Given the description of an element on the screen output the (x, y) to click on. 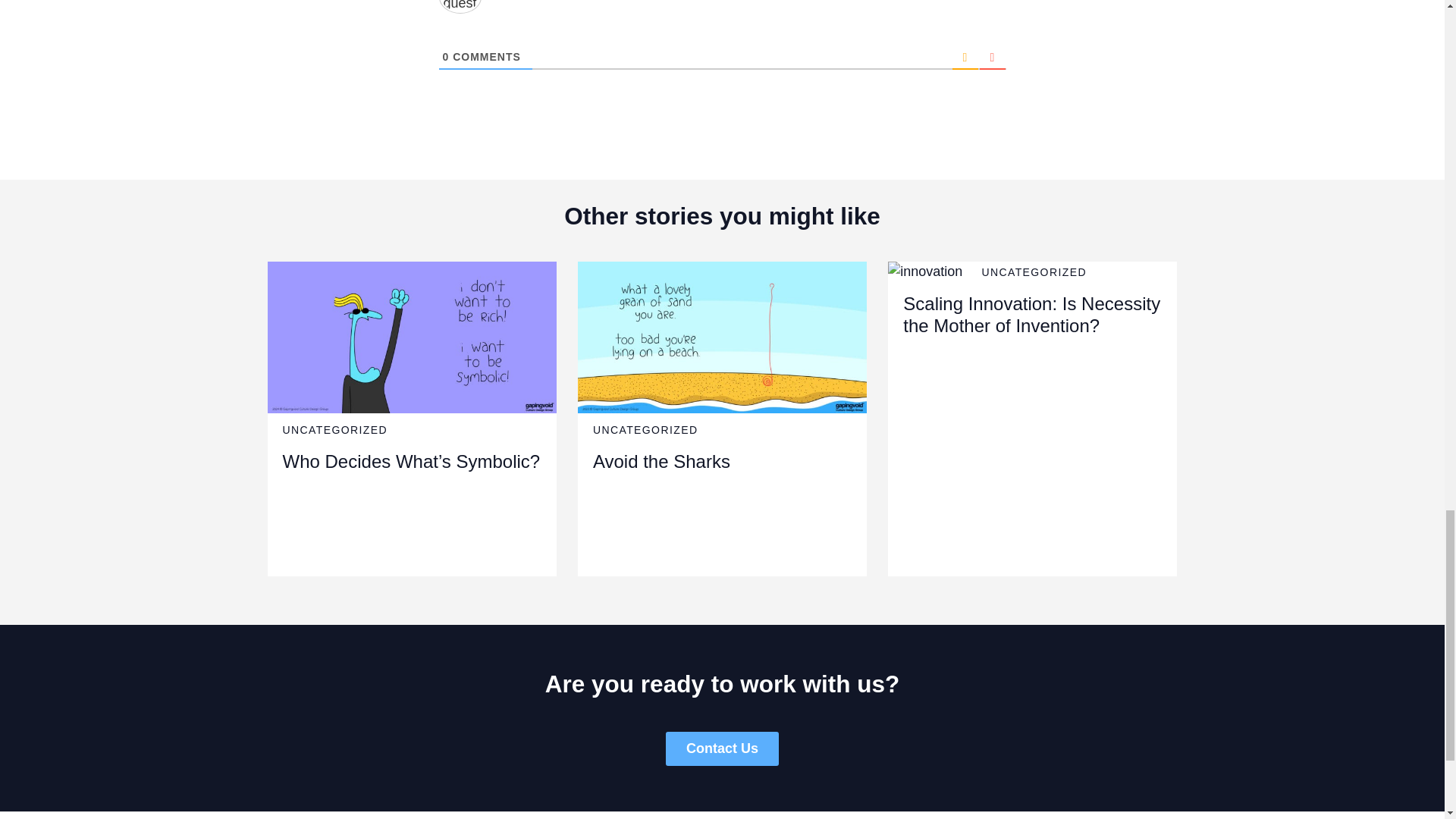
UNCATEGORIZED (645, 429)
UNCATEGORIZED (334, 429)
